Given the description of an element on the screen output the (x, y) to click on. 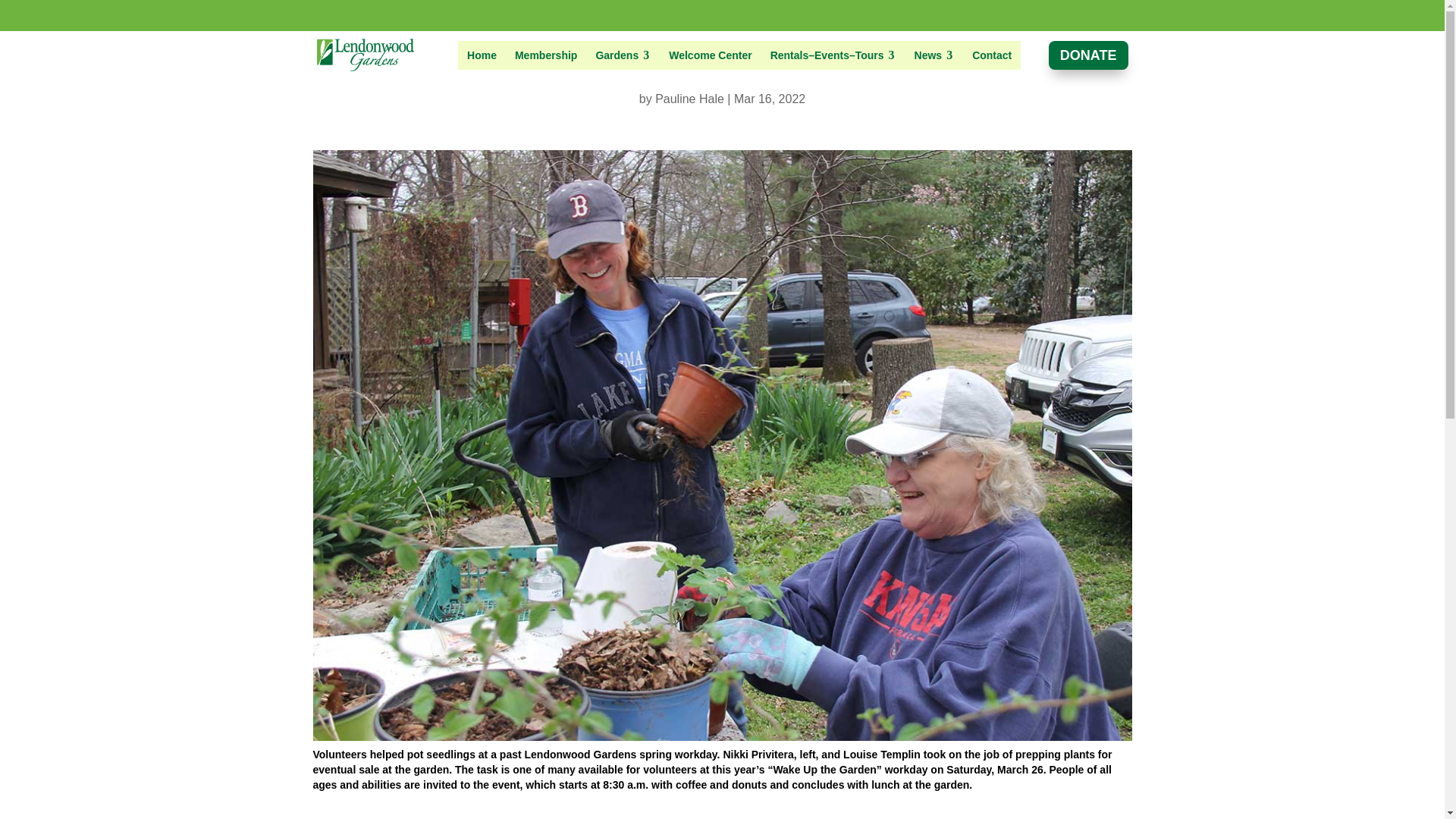
Contact (991, 54)
Gardens (622, 54)
DONATE (1088, 54)
Posts by Pauline Hale (689, 98)
Pauline Hale (689, 98)
Welcome Center (709, 54)
News (934, 54)
Home (481, 54)
Membership (545, 54)
